Given the description of an element on the screen output the (x, y) to click on. 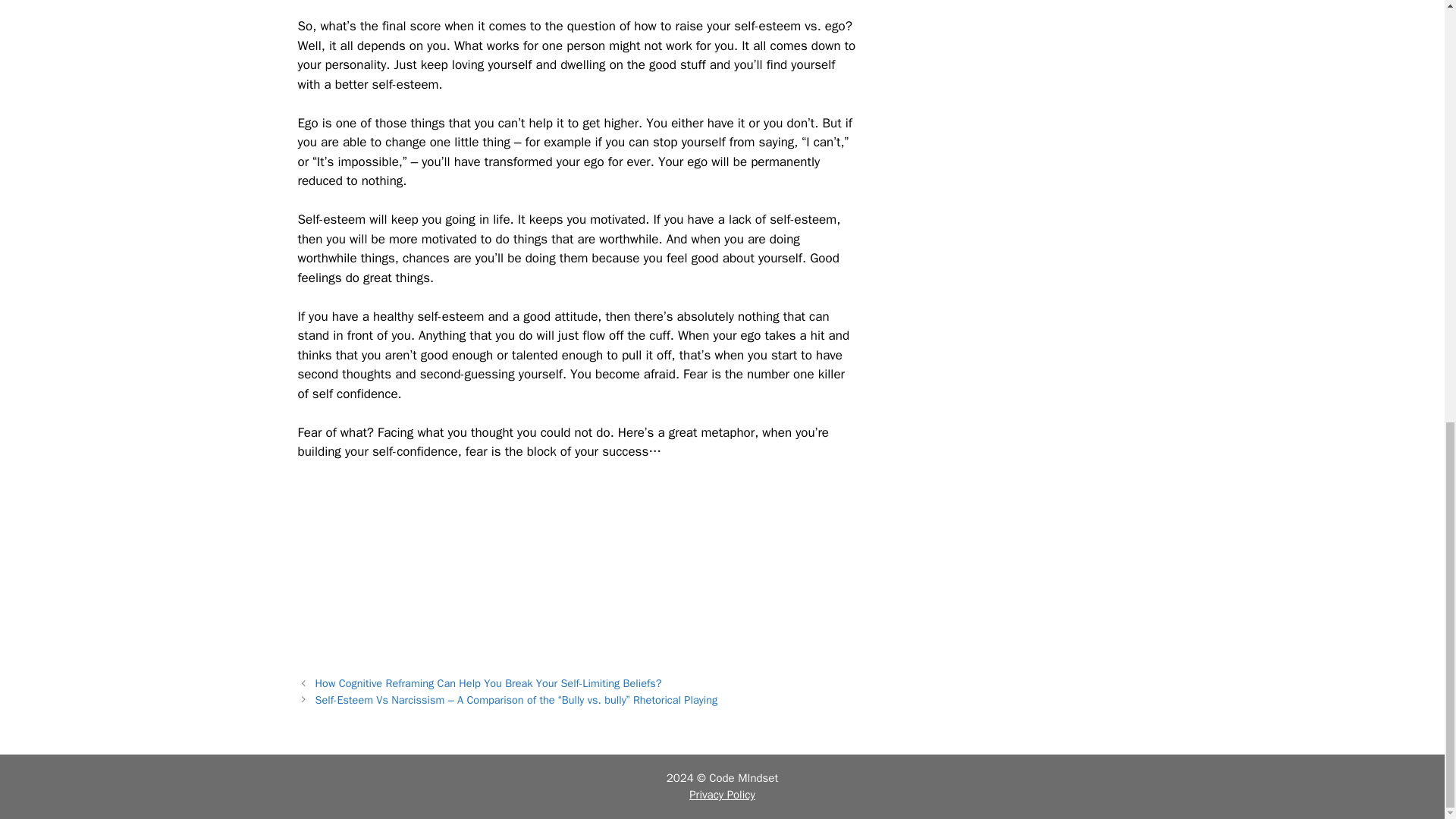
Privacy Policy (721, 794)
